Given the description of an element on the screen output the (x, y) to click on. 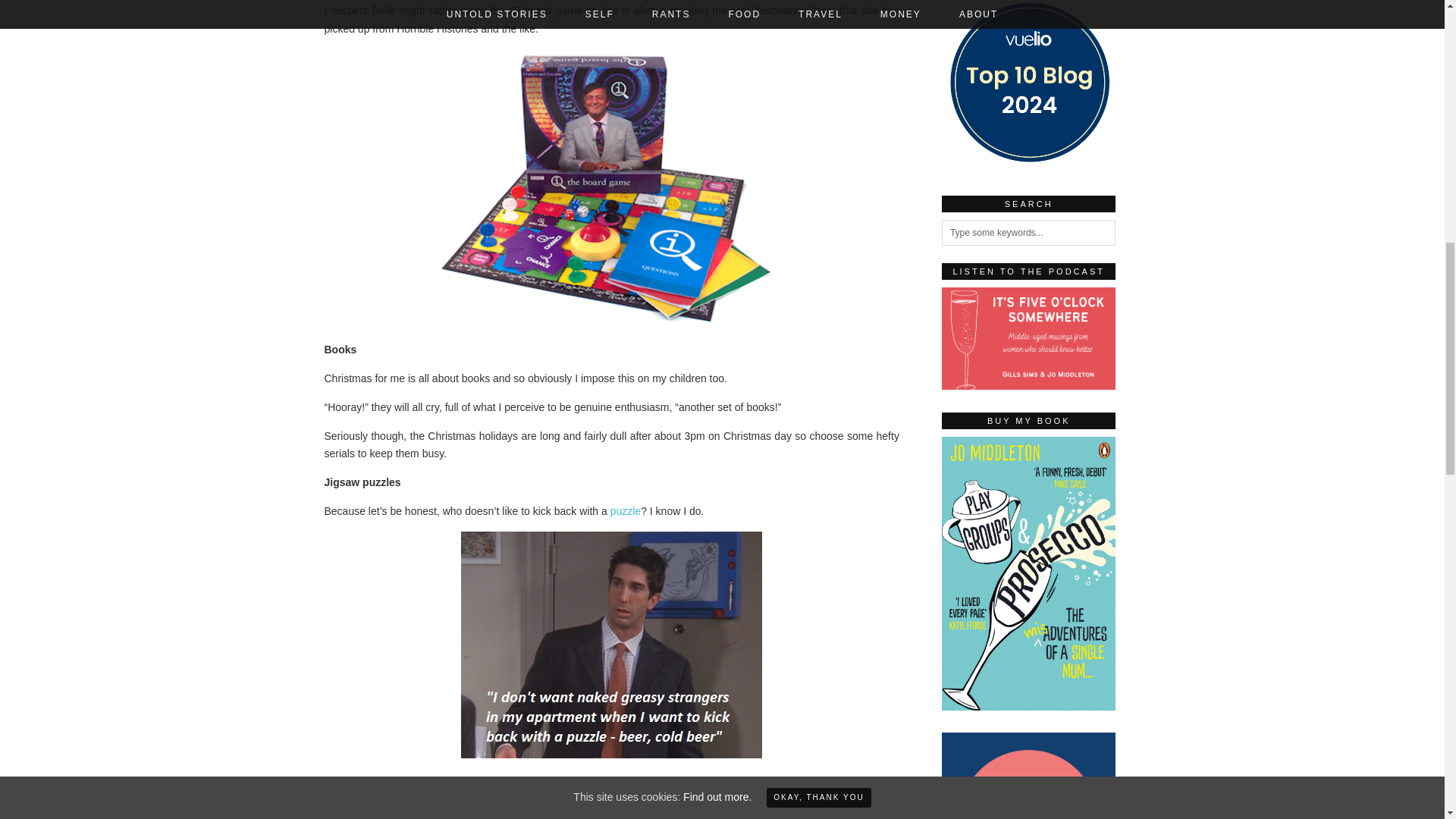
puzzle (623, 510)
Listen to the podcast (1029, 338)
Buy my book (1029, 706)
